Given the description of an element on the screen output the (x, y) to click on. 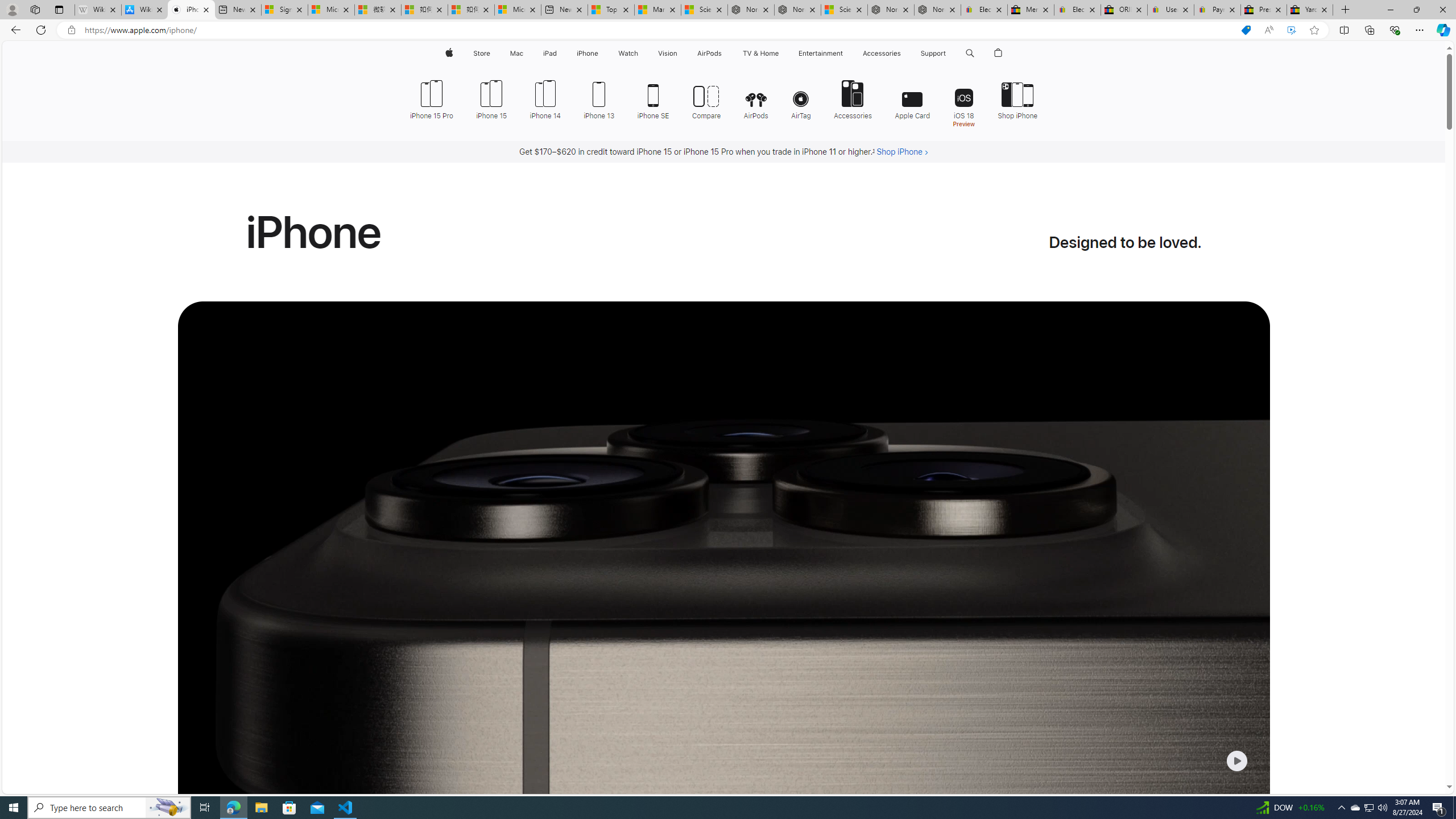
Compare (705, 98)
Search apple.com (969, 53)
iPhone SE (653, 98)
Support (932, 53)
Marine life - MSN (656, 9)
iPhone - Apple (191, 9)
Shop iPhone (1017, 98)
AirPods menu (723, 53)
Payments Terms of Use | eBay.com (1216, 9)
